Given the description of an element on the screen output the (x, y) to click on. 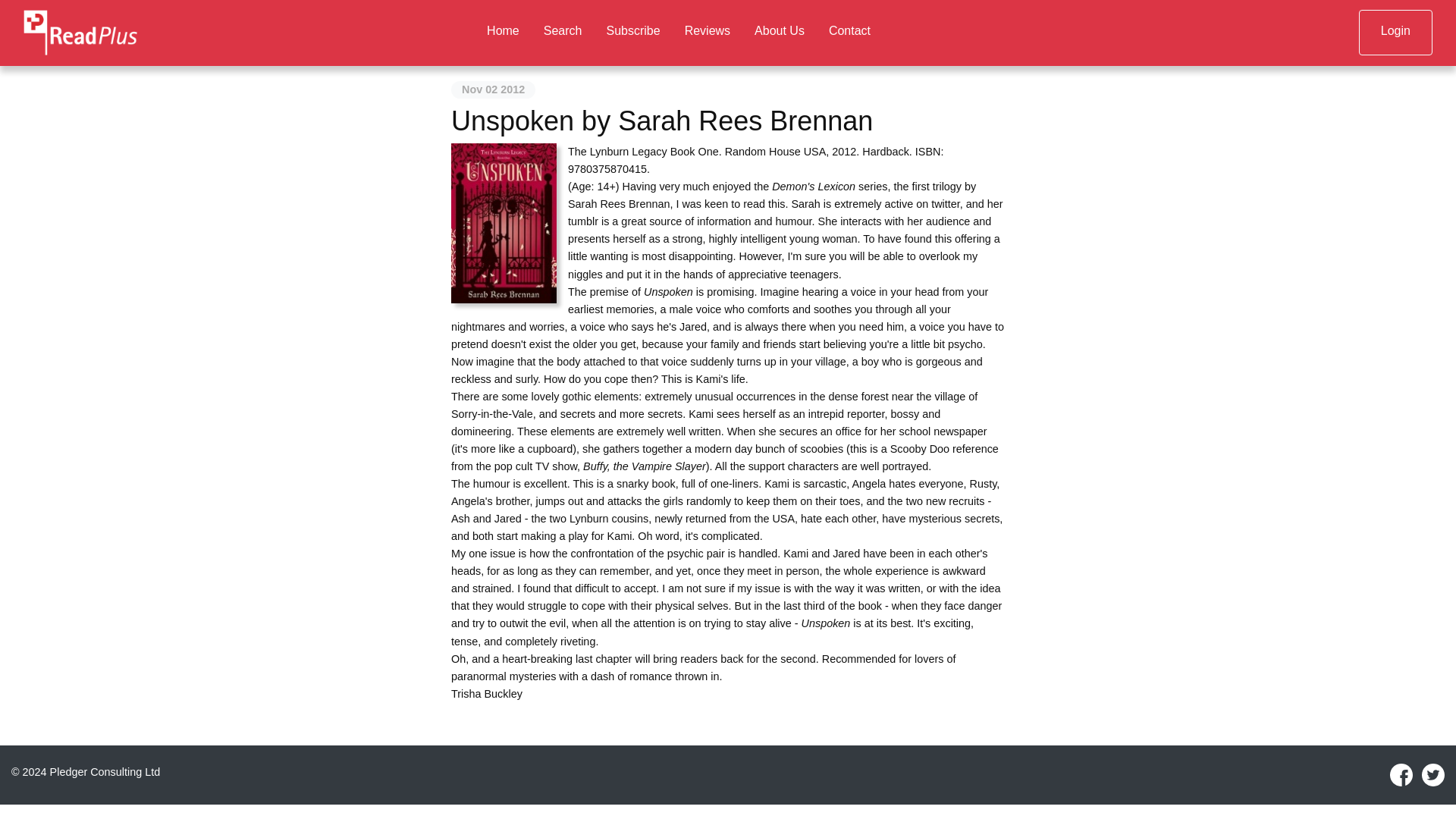
Search (562, 32)
About Us (779, 32)
Home (502, 32)
Contact (849, 32)
Reviews (707, 32)
Subscribe (632, 32)
Login (1395, 32)
2024 Pledger Consulting Ltd (91, 771)
